Given the description of an element on the screen output the (x, y) to click on. 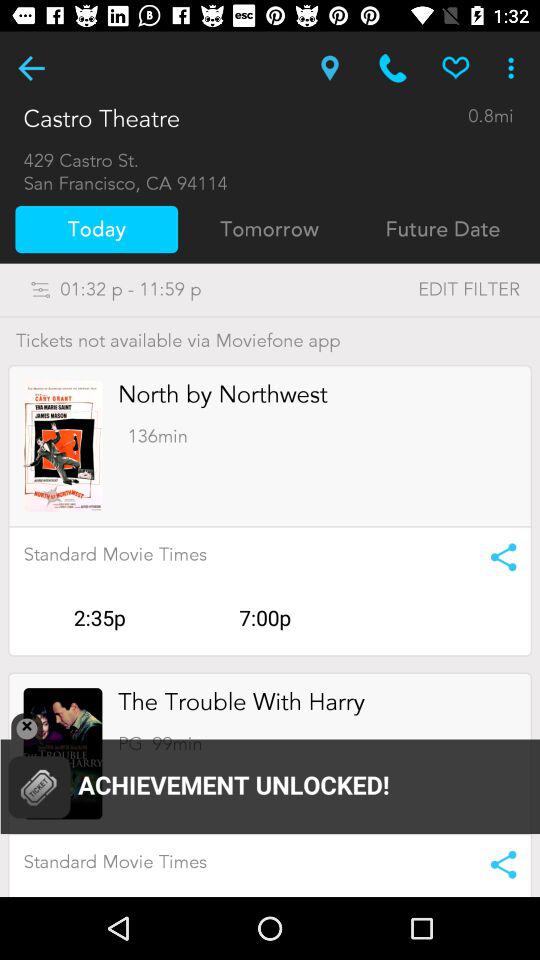
achievement box (270, 776)
